Given the description of an element on the screen output the (x, y) to click on. 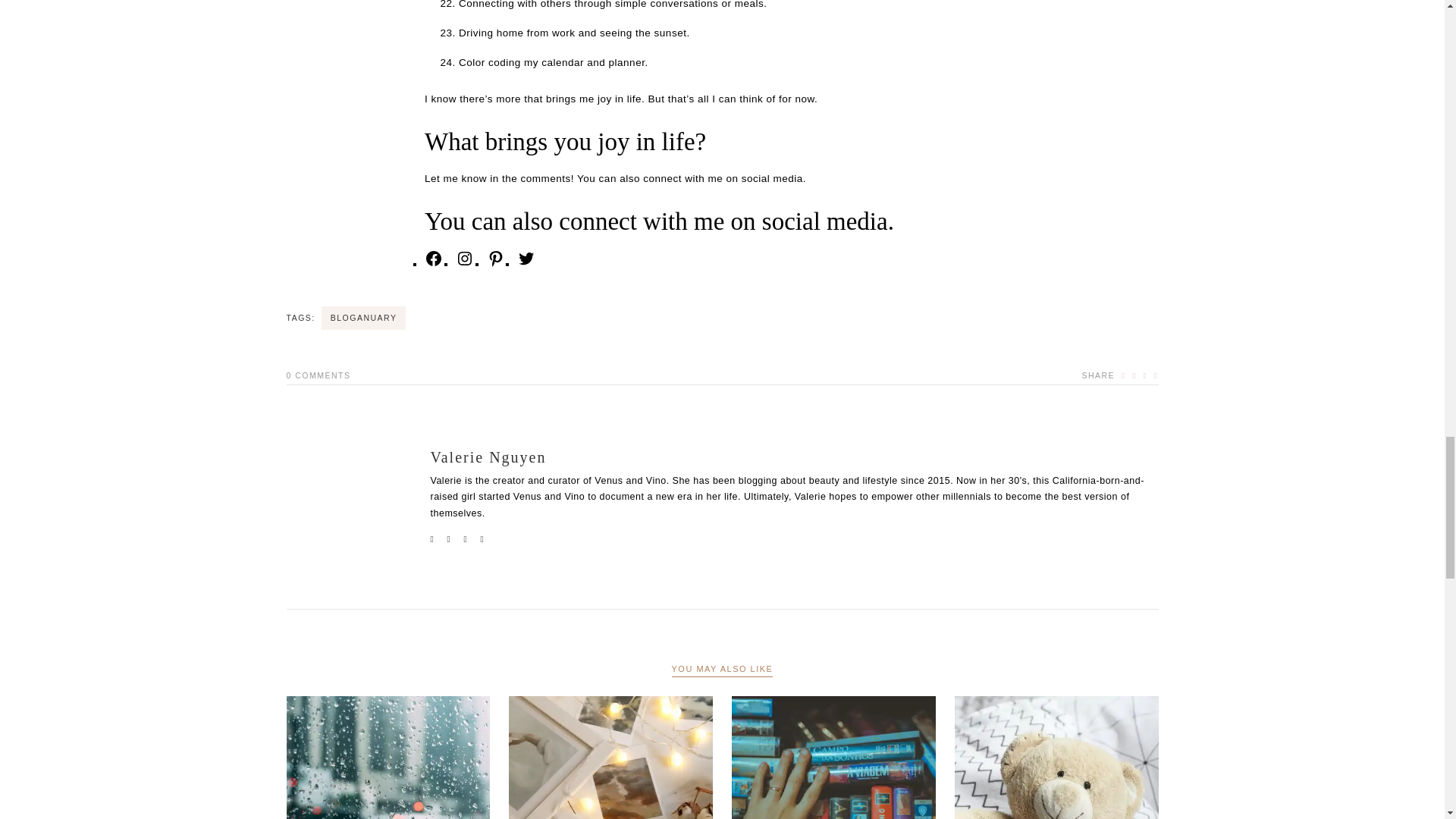
0 COMMENTS (318, 374)
Pinterest (495, 264)
Posts by Valerie Nguyen (488, 457)
BLOGANUARY (363, 318)
Twitter (525, 264)
Facebook (433, 264)
Instagram (464, 264)
